Given the description of an element on the screen output the (x, y) to click on. 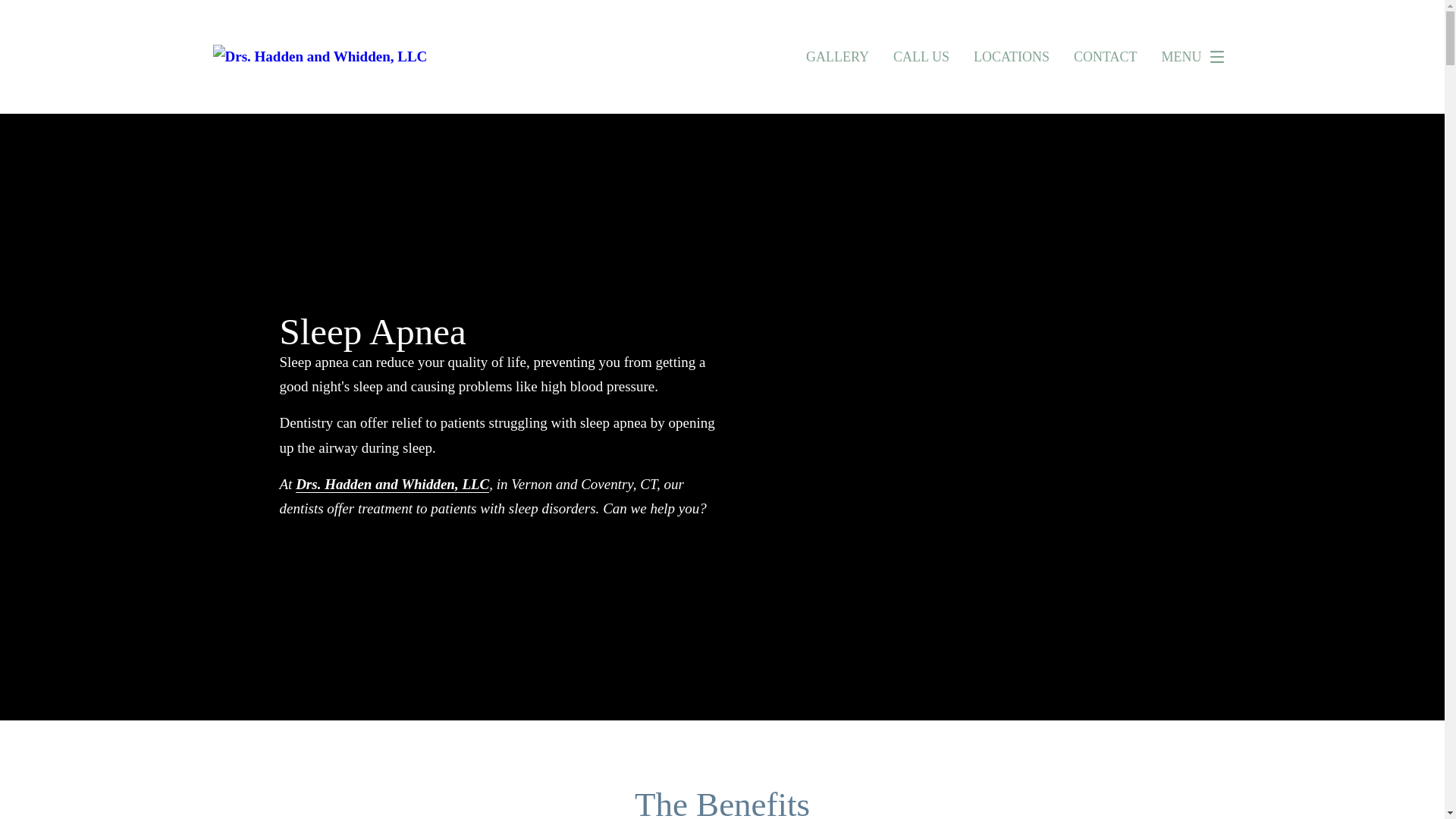
CONTACT (1105, 56)
MENU (1196, 56)
GALLERY (837, 56)
LOCATIONS (1011, 56)
Drs. Hadden and Whidden, LLC (392, 484)
CALL US (921, 56)
